Given the description of an element on the screen output the (x, y) to click on. 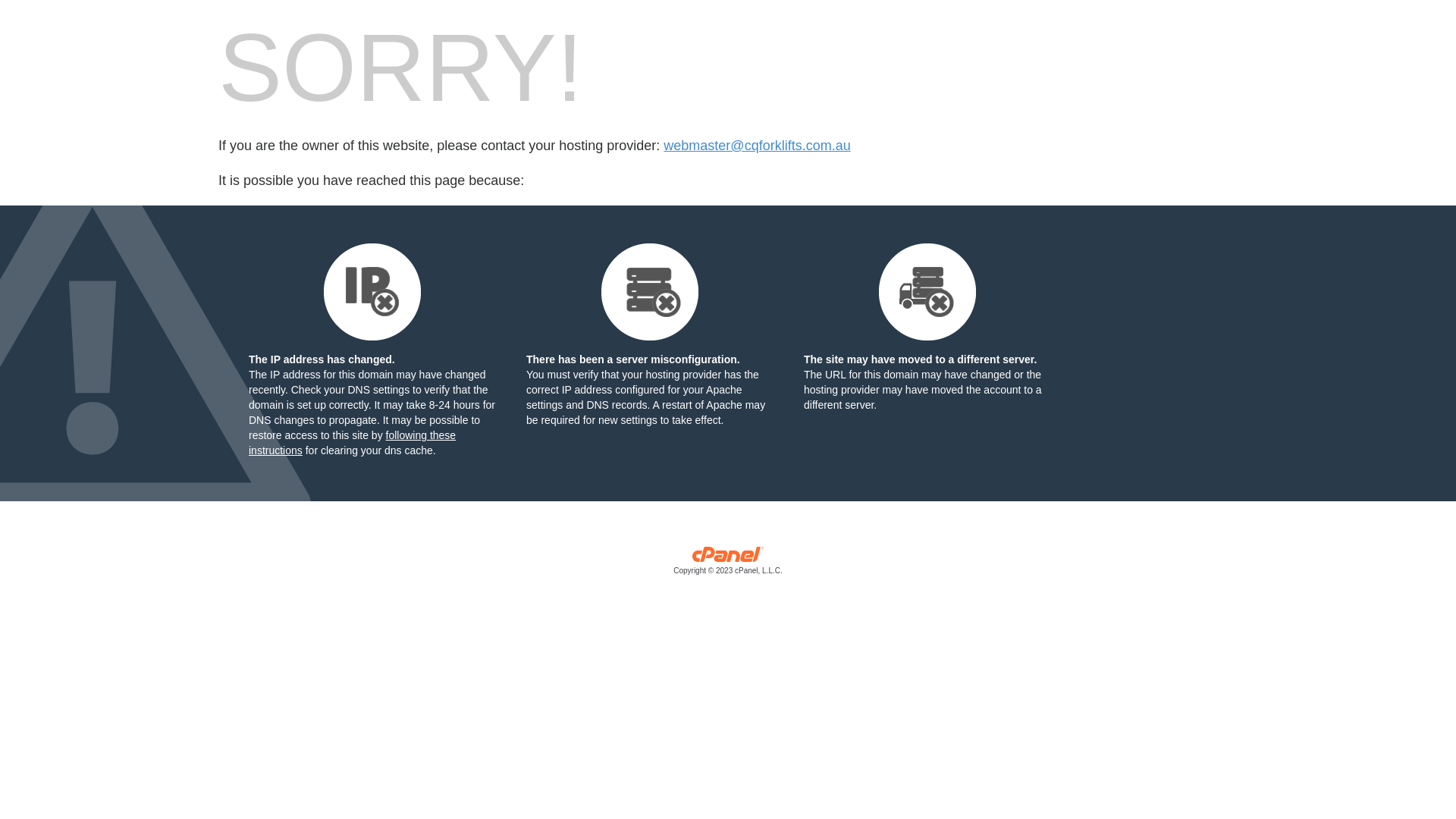
webmaster@cqforklifts.com.au Element type: text (756, 145)
following these instructions Element type: text (351, 442)
